Given the description of an element on the screen output the (x, y) to click on. 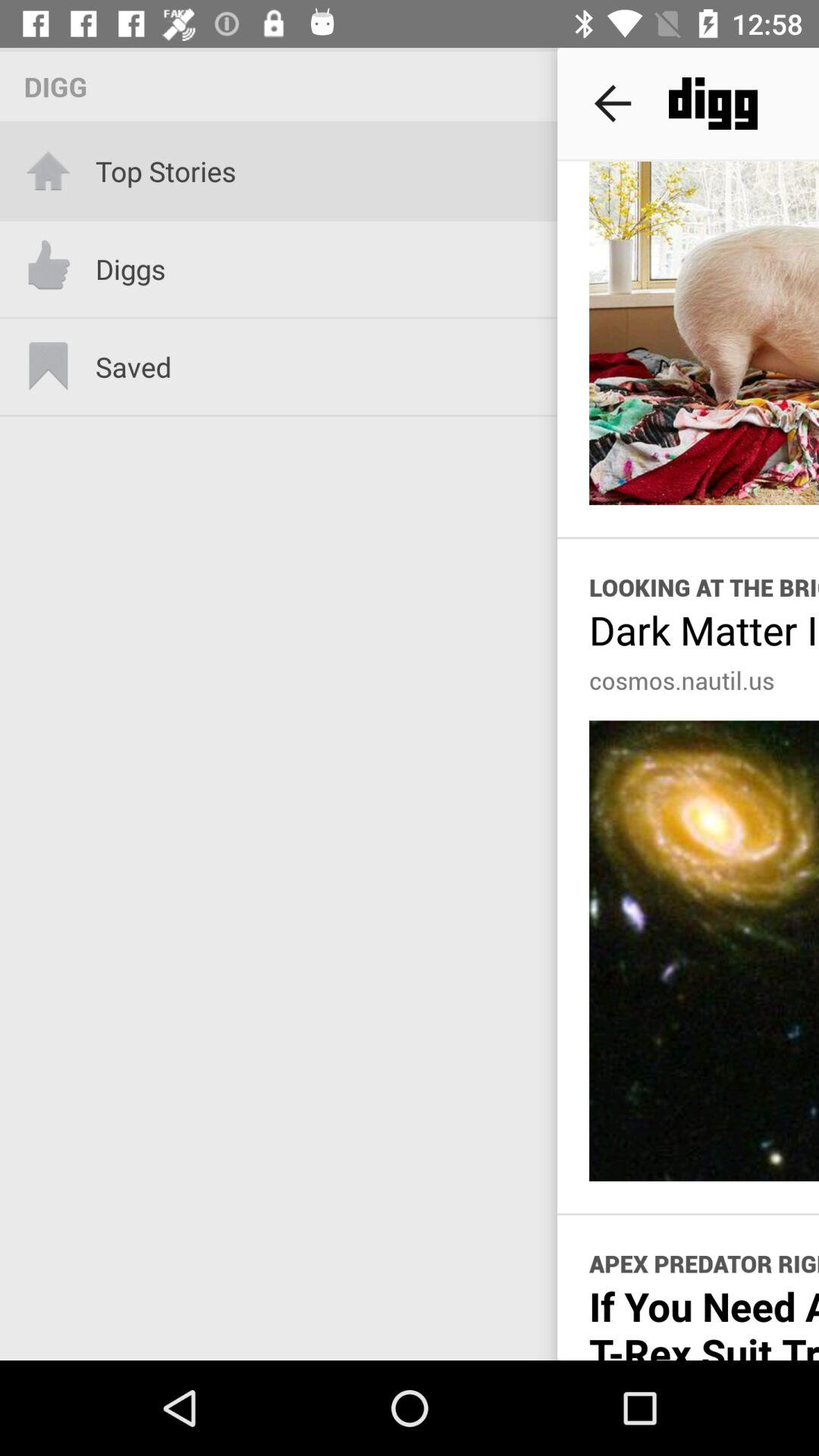
choose item next to the digg (612, 103)
